Given the description of an element on the screen output the (x, y) to click on. 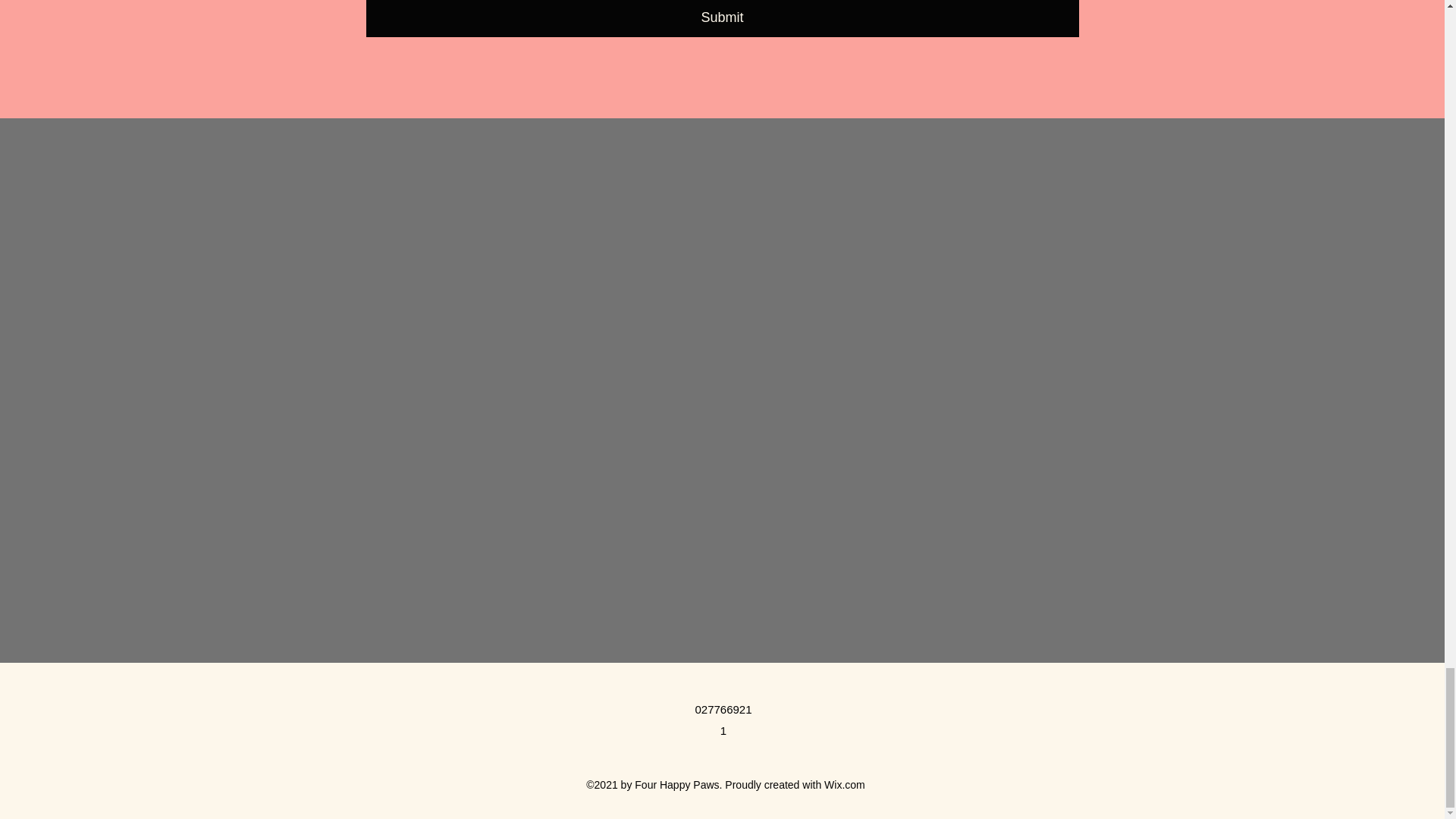
Submit (721, 18)
